Given the description of an element on the screen output the (x, y) to click on. 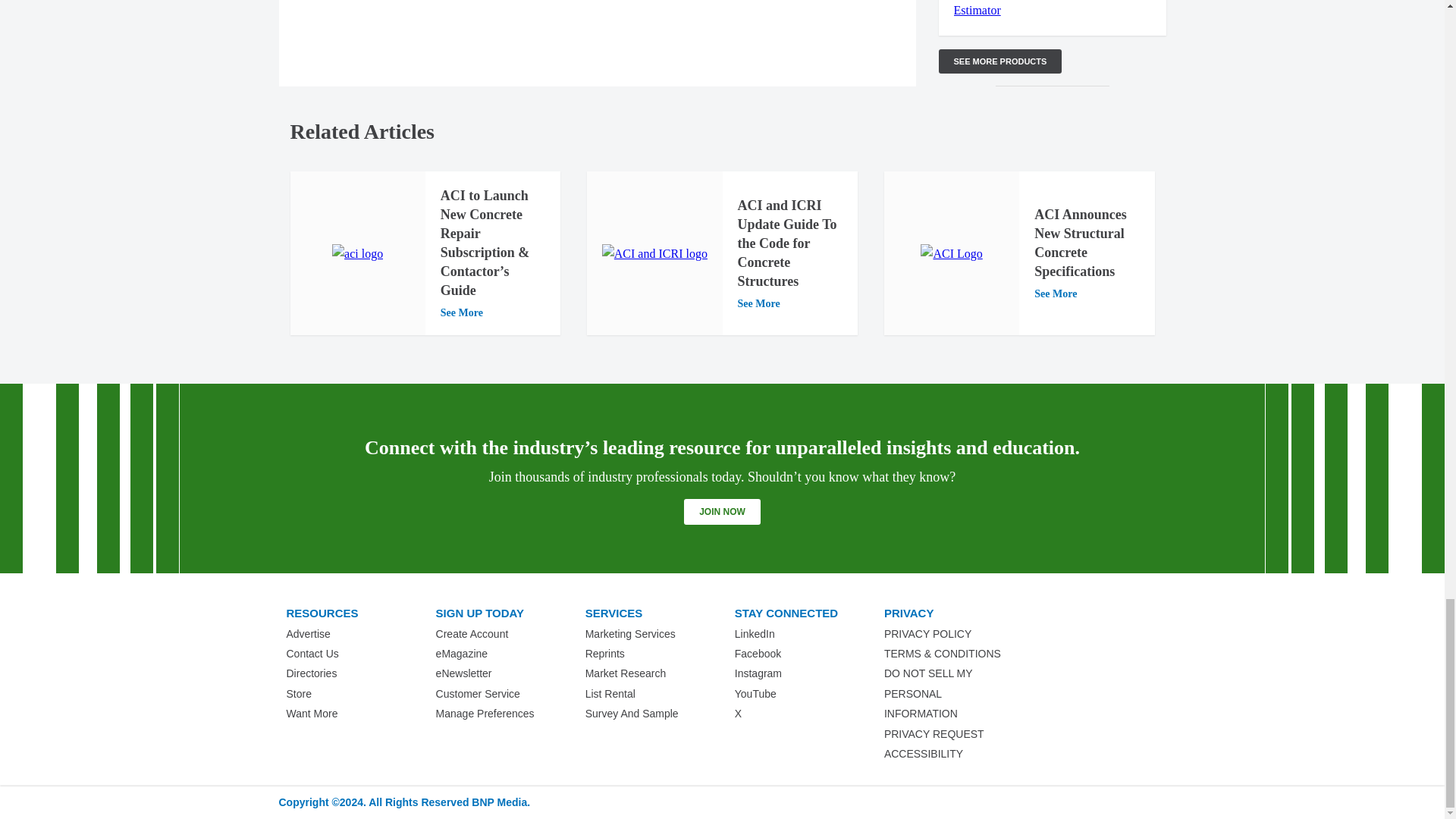
aci logo (356, 253)
ACI and ICRI logo (654, 253)
ACI Logo (950, 253)
